Given the description of an element on the screen output the (x, y) to click on. 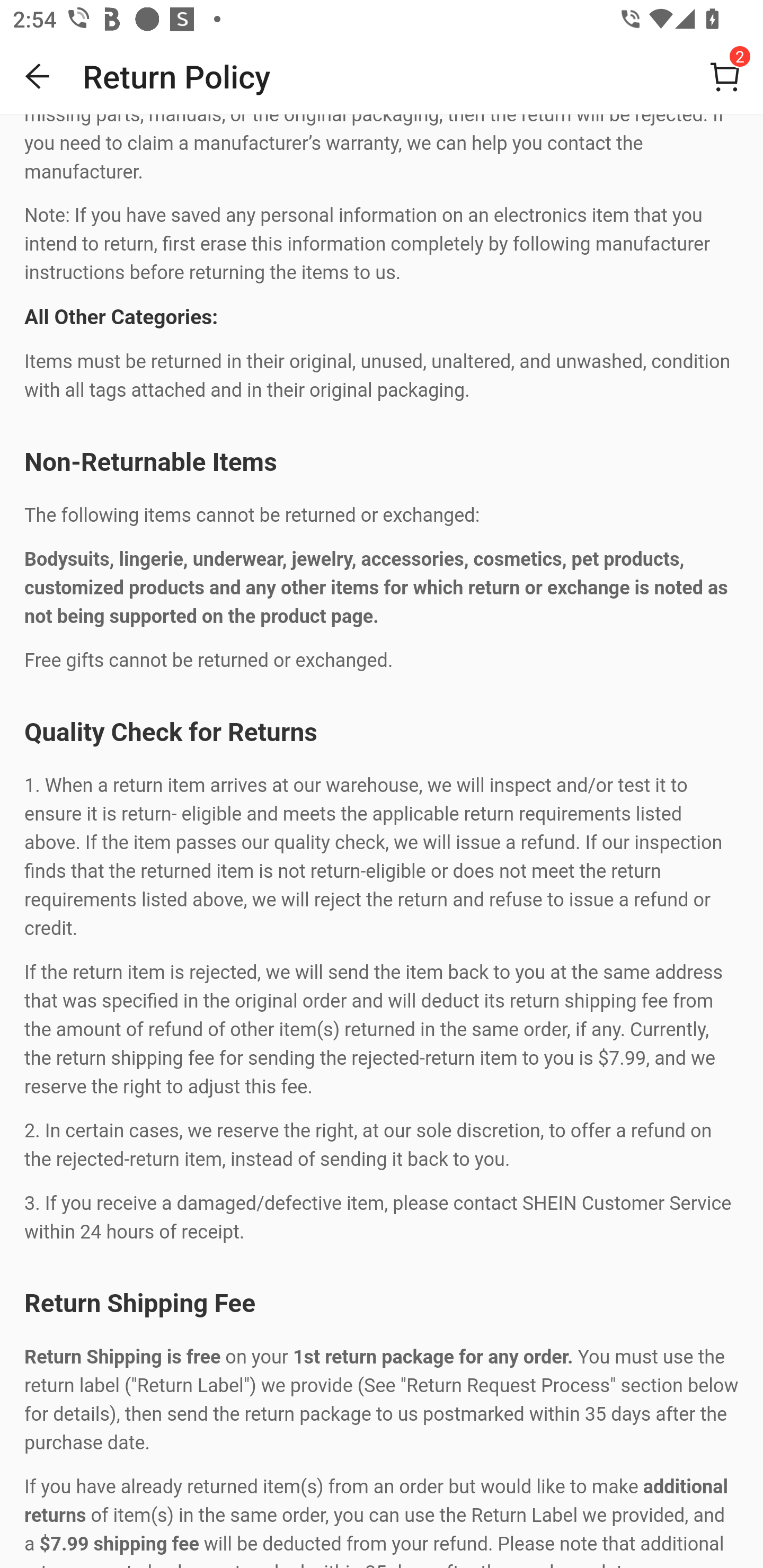
BACK (38, 75)
Cart 2 (724, 75)
